Given the description of an element on the screen output the (x, y) to click on. 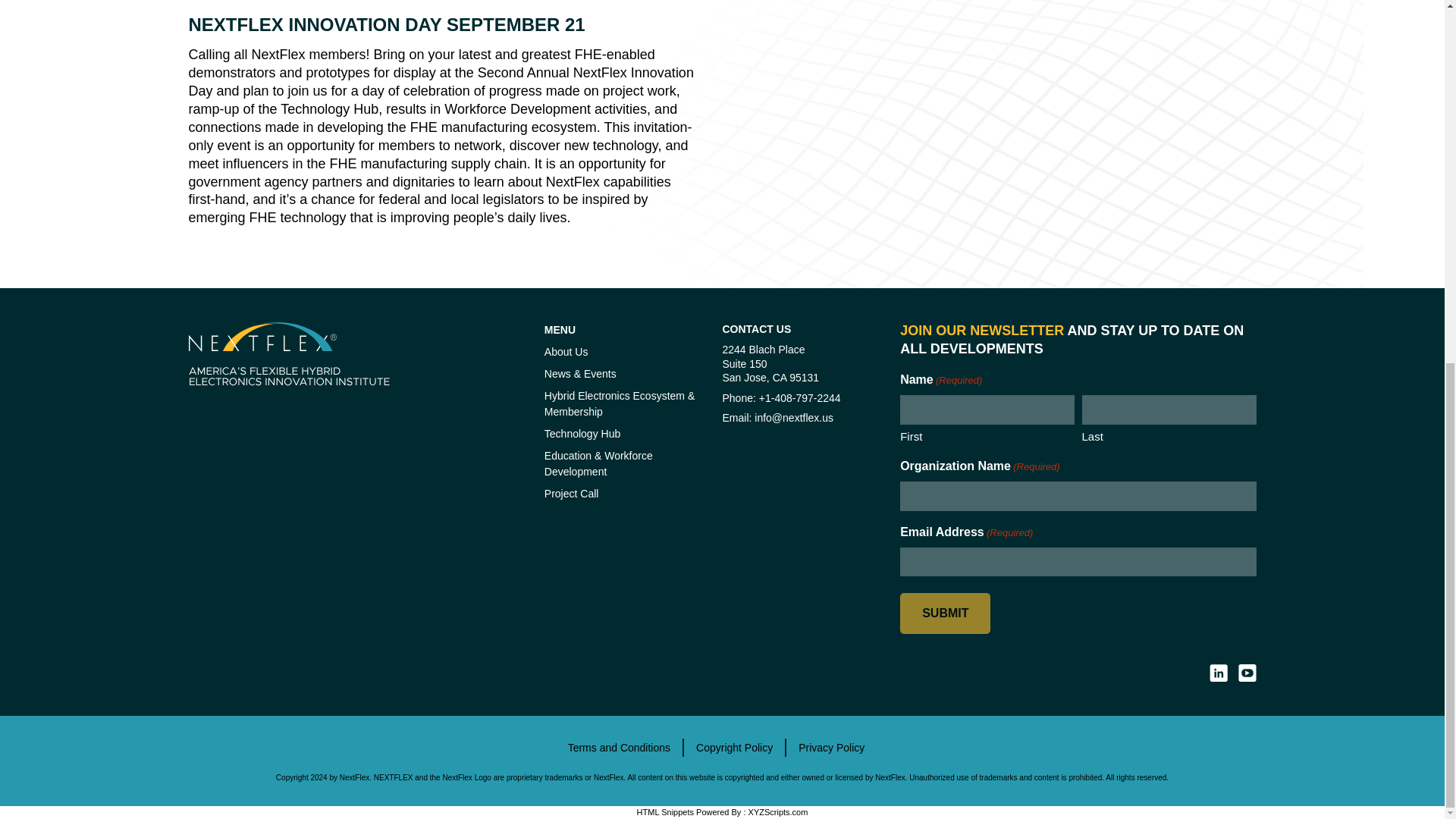
Submit (944, 612)
About Us (566, 351)
Insert HTML Snippet Wordpress Plugin (665, 811)
